Given the description of an element on the screen output the (x, y) to click on. 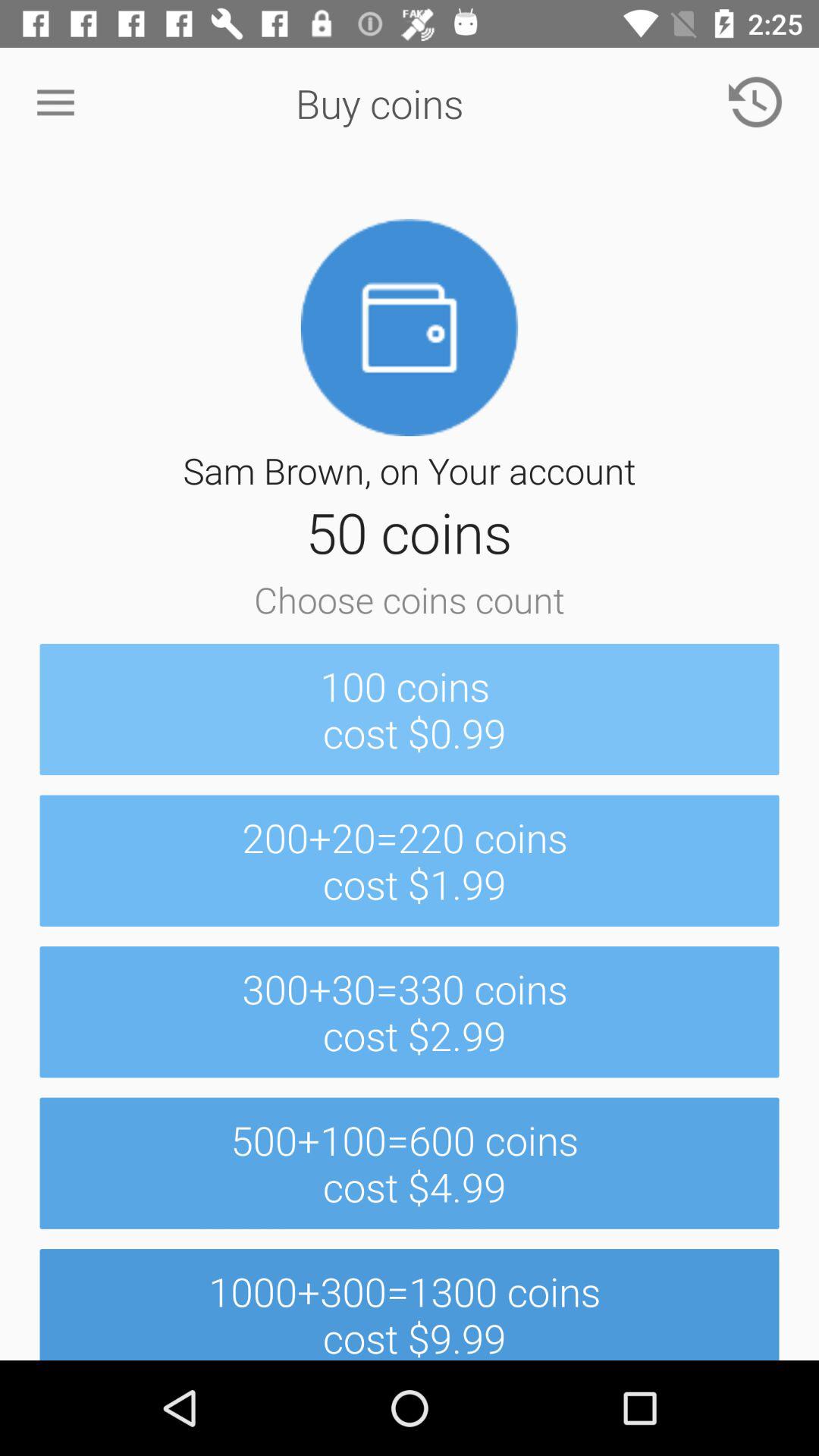
choose icon next to the buy coins icon (55, 103)
